Given the description of an element on the screen output the (x, y) to click on. 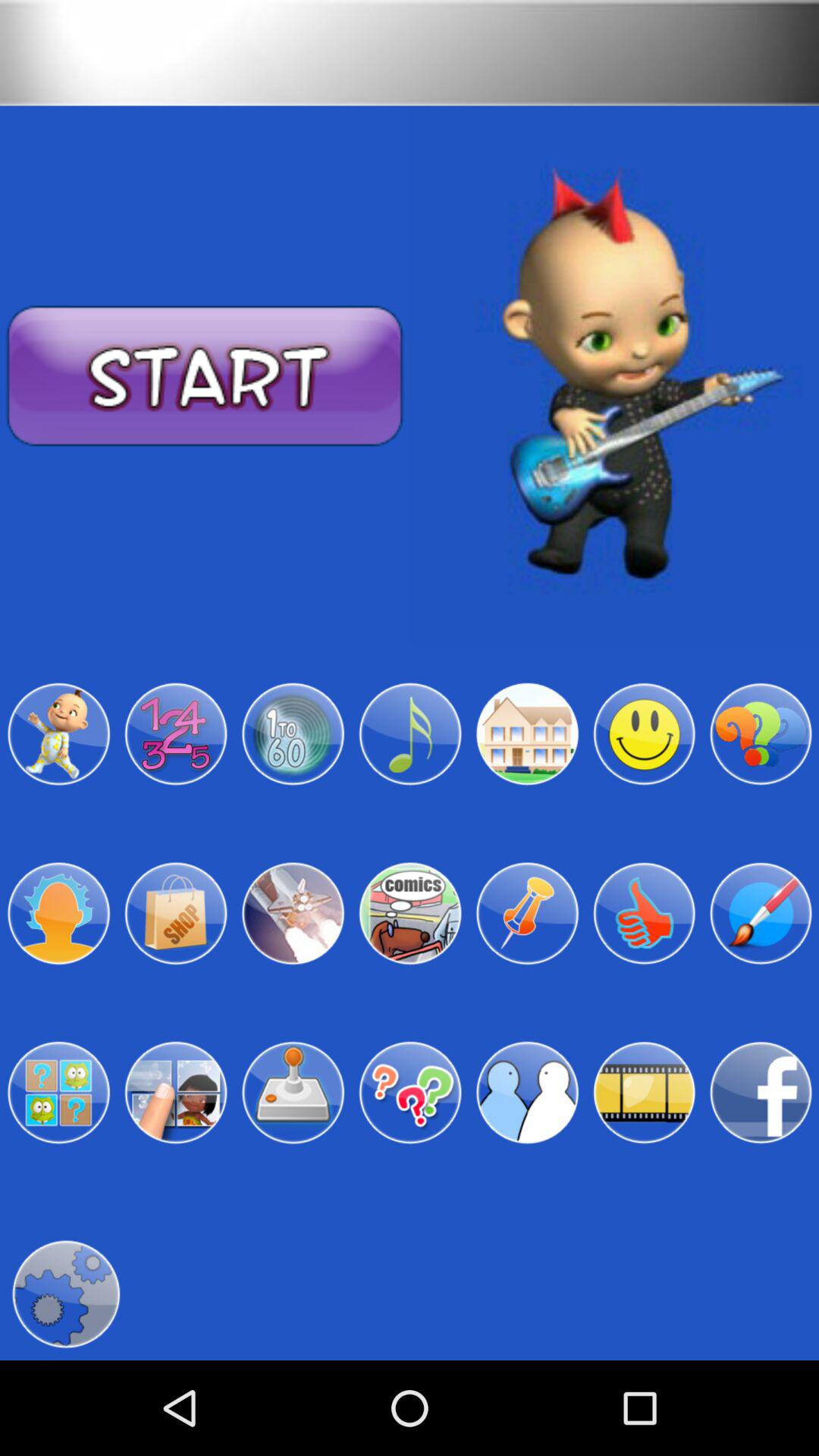
click the item at the top (409, 53)
